Given the description of an element on the screen output the (x, y) to click on. 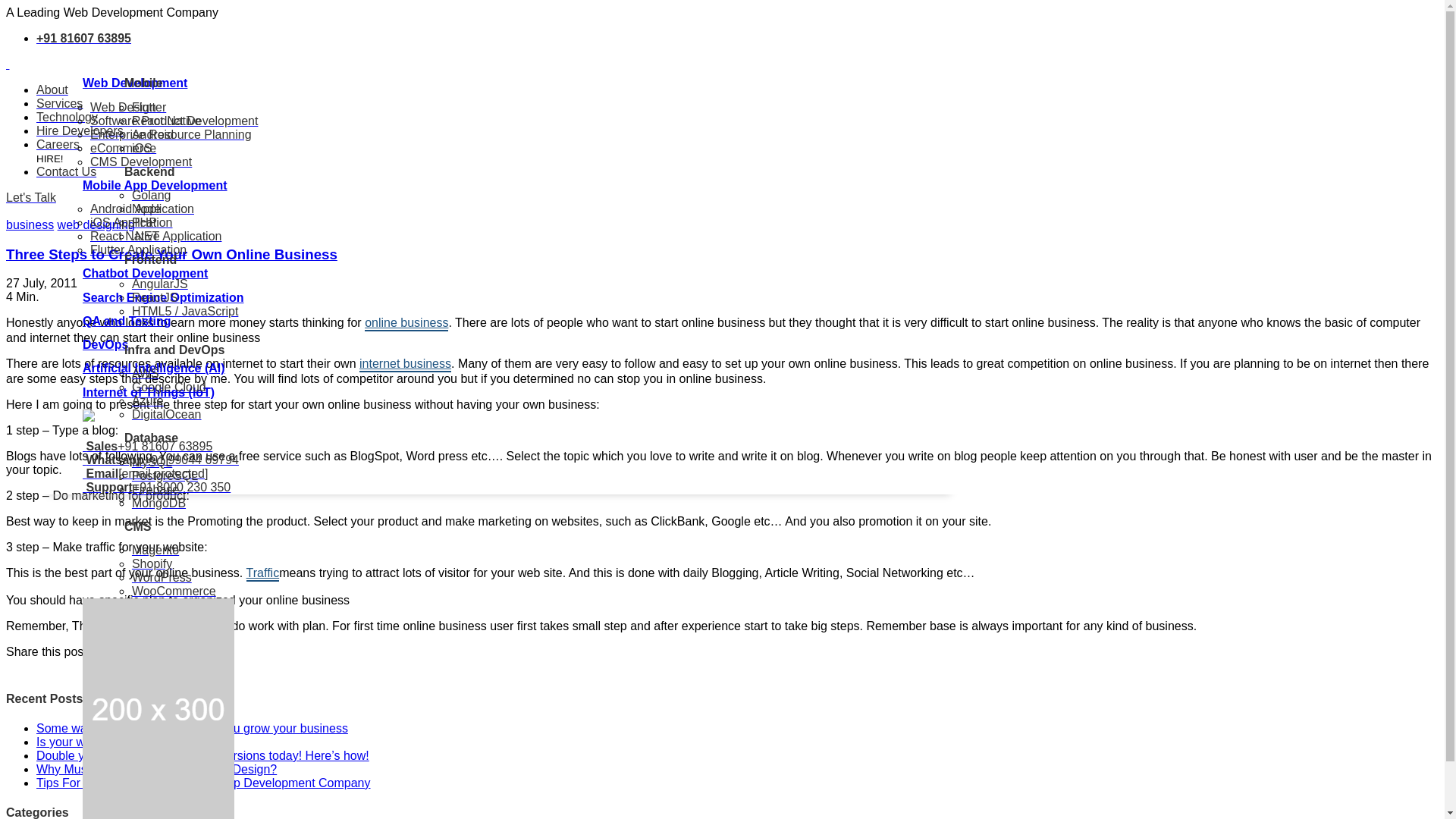
Azure (147, 400)
Mobile App Development (154, 185)
Web Development (134, 82)
iOS (142, 147)
Online Business (406, 323)
Android (152, 133)
Technology (66, 116)
Traffic (262, 573)
Internet Business (405, 364)
DevOps (105, 344)
PHP (144, 222)
CMS Development (141, 161)
Search Engine Optimization (162, 297)
iOS Application (131, 222)
eCommerce (122, 147)
